Given the description of an element on the screen output the (x, y) to click on. 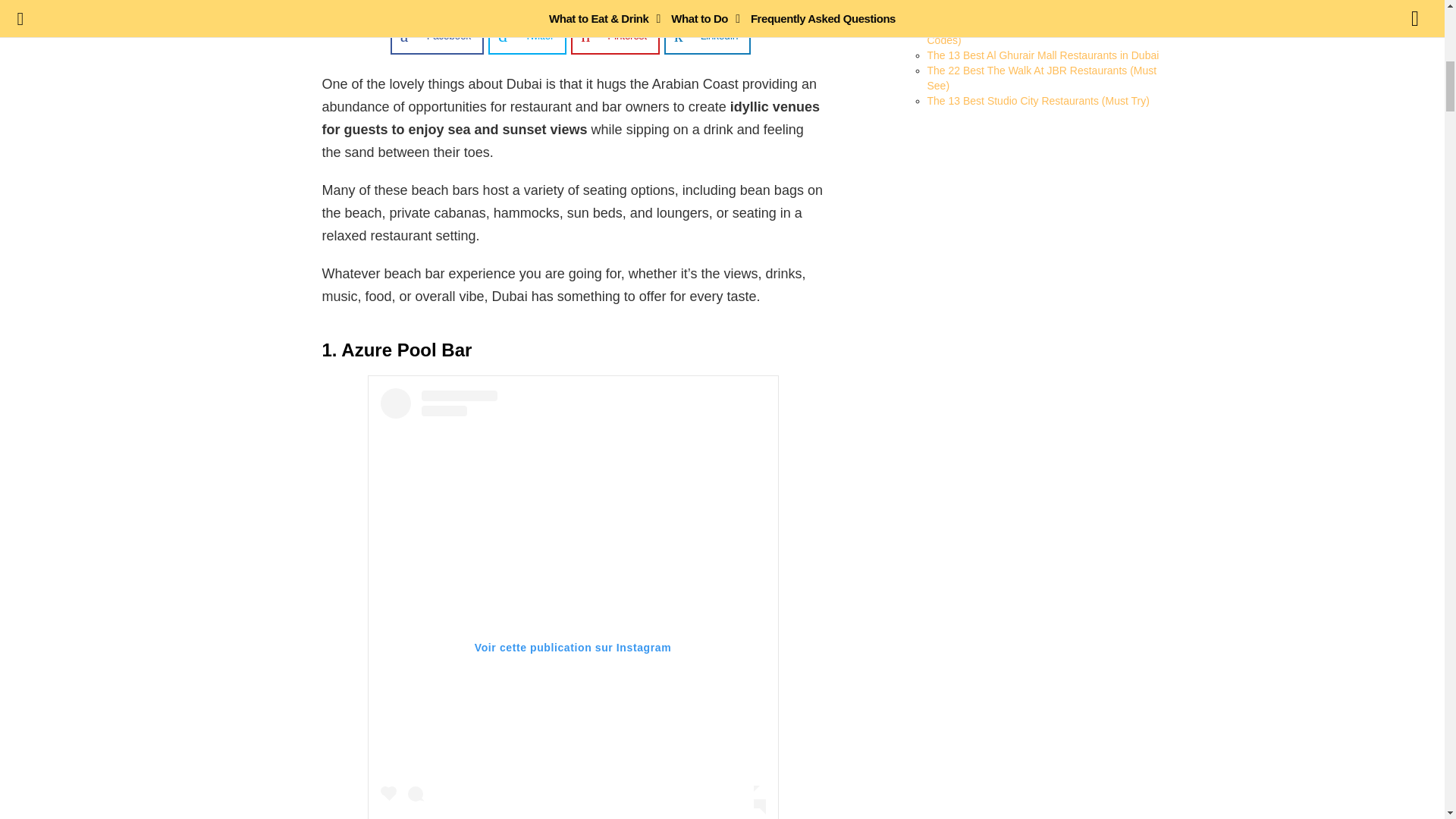
Share on Twitter (526, 35)
Share on Facebook (436, 35)
Share on LinkedIn (707, 35)
LinkedIn (707, 35)
Facebook (436, 35)
Twitter (526, 35)
Pinterest (614, 35)
Share on Pinterest (614, 35)
